Given the description of an element on the screen output the (x, y) to click on. 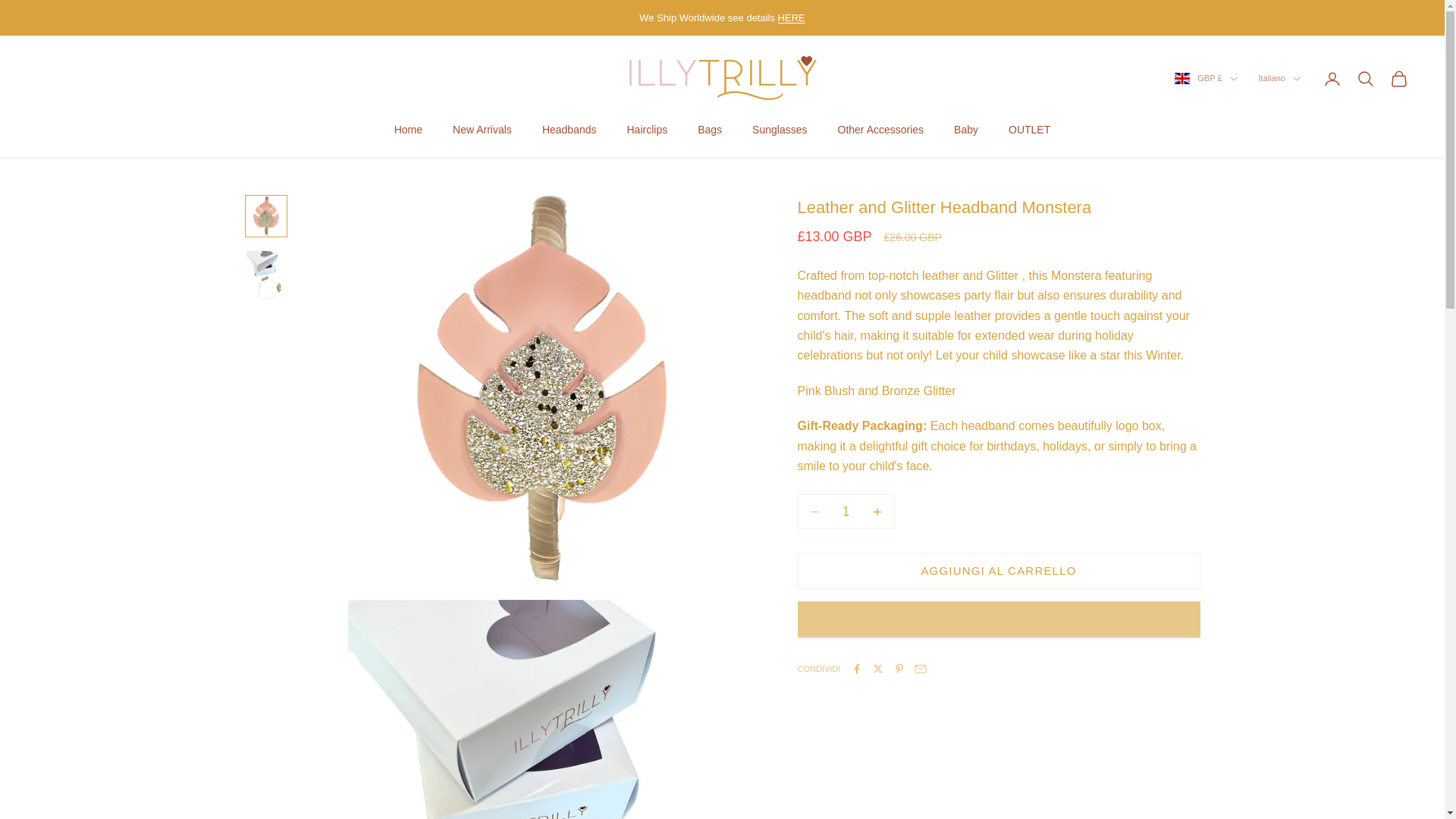
Mostra il carrello (1398, 78)
OUTLET (1029, 130)
Home (408, 130)
Italiano (1279, 78)
1 (846, 511)
HERE (791, 17)
Sunglasses (779, 130)
Baby (965, 130)
Other Accessories (880, 130)
Mostra il menu di ricerca (1365, 78)
